Given the description of an element on the screen output the (x, y) to click on. 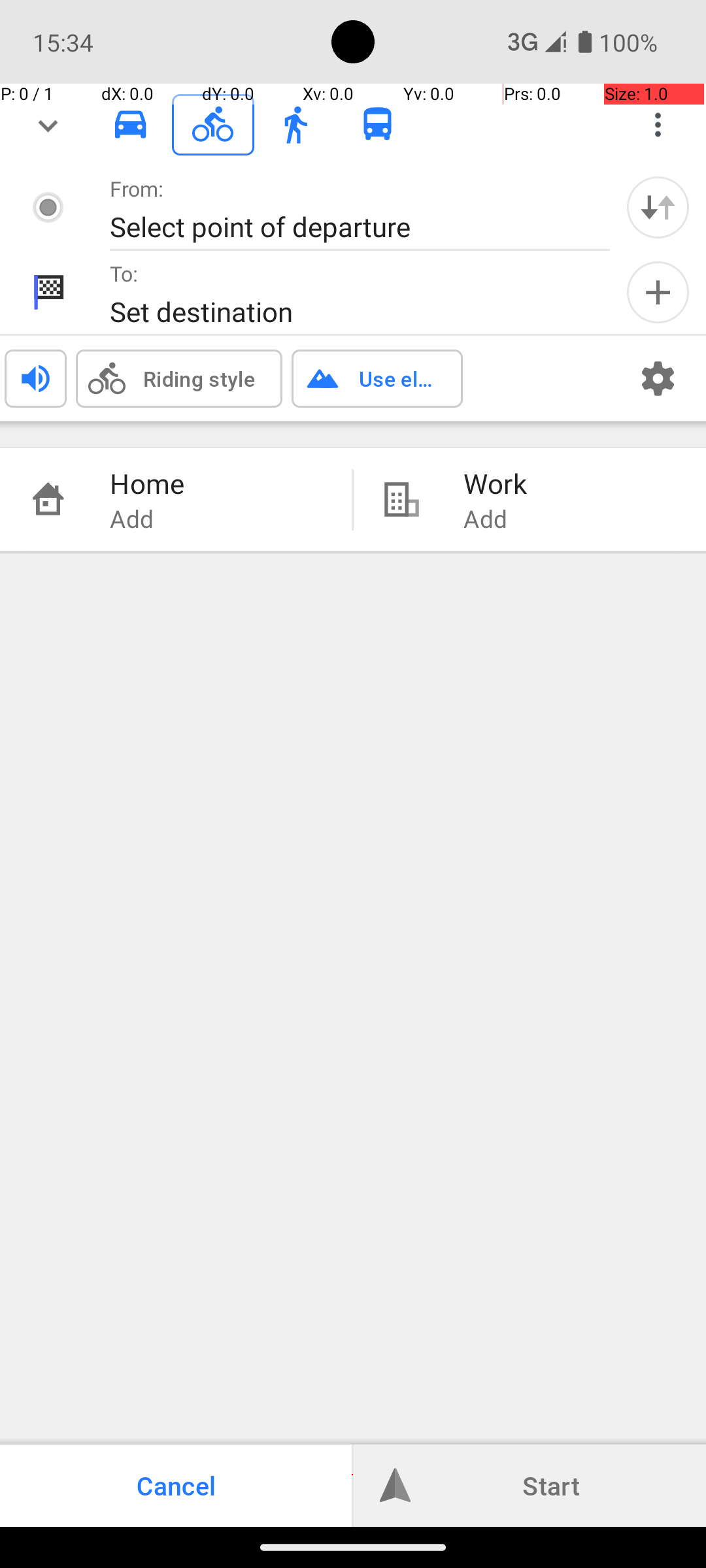
fold/unfold Element type: android.widget.ImageView (48, 124)
Choose app modes Element type: android.widget.ImageView (657, 124)
Driving Element type: android.widget.FrameLayout (130, 124)
Cycling Element type: android.widget.FrameLayout (212, 124)
Walking Element type: android.widget.FrameLayout (295, 124)
Public transport Element type: android.widget.FrameLayout (377, 124)
From: Element type: android.widget.TextView (136, 188)
Select point of departure Element type: android.widget.TextView (345, 226)
Swap Element type: android.widget.FrameLayout (657, 207)
To: Element type: android.widget.TextView (123, 273)
Set destination Element type: android.widget.TextView (345, 310)
Add Element type: android.widget.FrameLayout (657, 292)
Driving unchecked Element type: android.widget.ImageView (130, 124)
Cycling checked Element type: android.widget.ImageView (212, 124)
Walking unchecked Element type: android.widget.ImageView (294, 124)
Public transport unchecked Element type: android.widget.ImageView (377, 124)
Riding style Element type: android.widget.TextView (198, 378)
Use elevation data Element type: android.widget.TextView (396, 378)
